Given the description of an element on the screen output the (x, y) to click on. 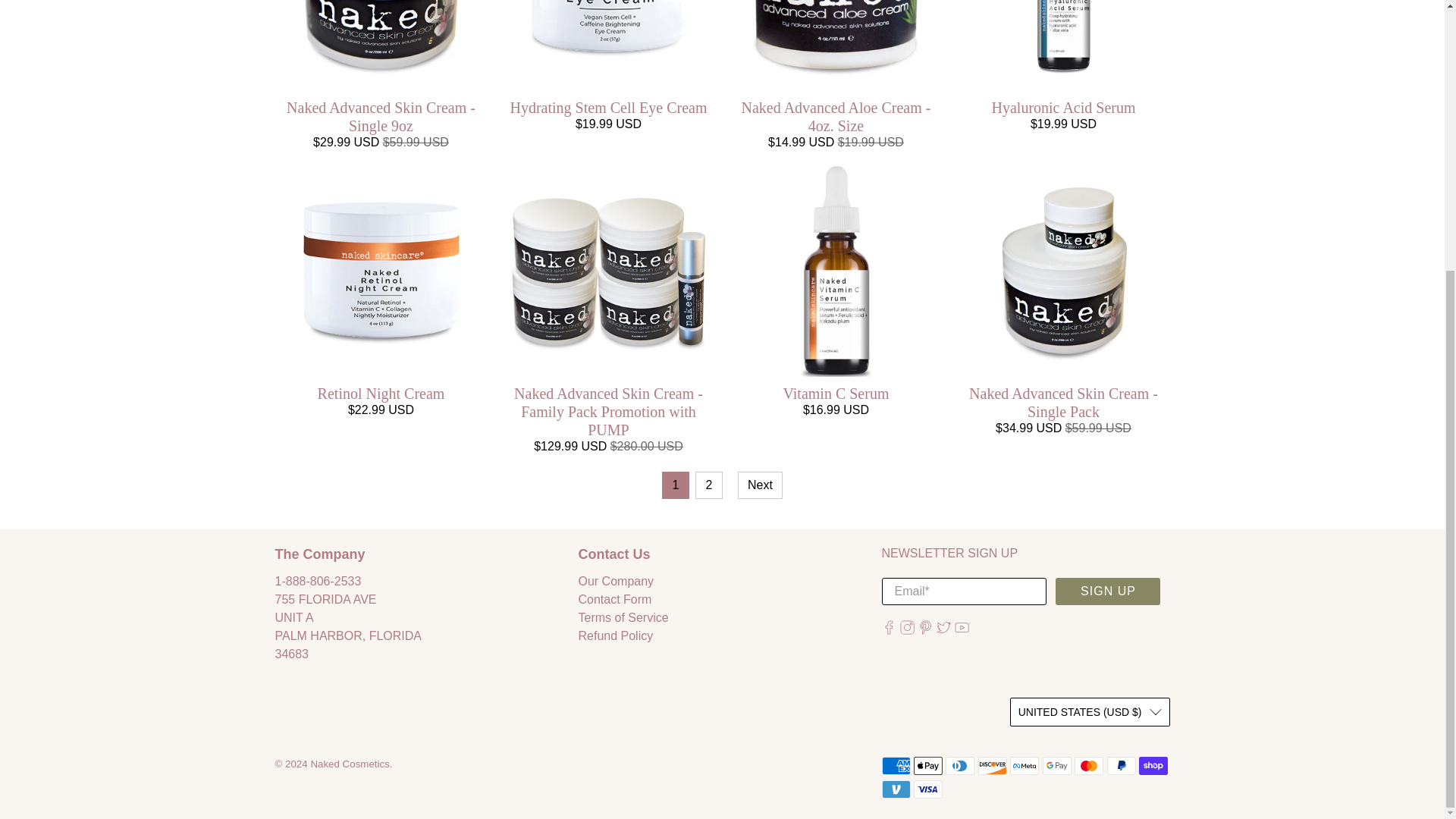
Discover (992, 765)
Visa (928, 789)
Naked Cosmetics on Instagram (906, 630)
American Express (895, 765)
Naked Cosmetics on YouTube (962, 630)
Naked Cosmetics on Twitter (943, 630)
Naked Cosmetics on Facebook (887, 630)
Google Pay (1056, 765)
Apple Pay (928, 765)
Mastercard (1088, 765)
Diners Club (959, 765)
Shop Pay (1152, 765)
Meta Pay (1024, 765)
Naked Cosmetics on Pinterest (925, 630)
Venmo (895, 789)
